Given the description of an element on the screen output the (x, y) to click on. 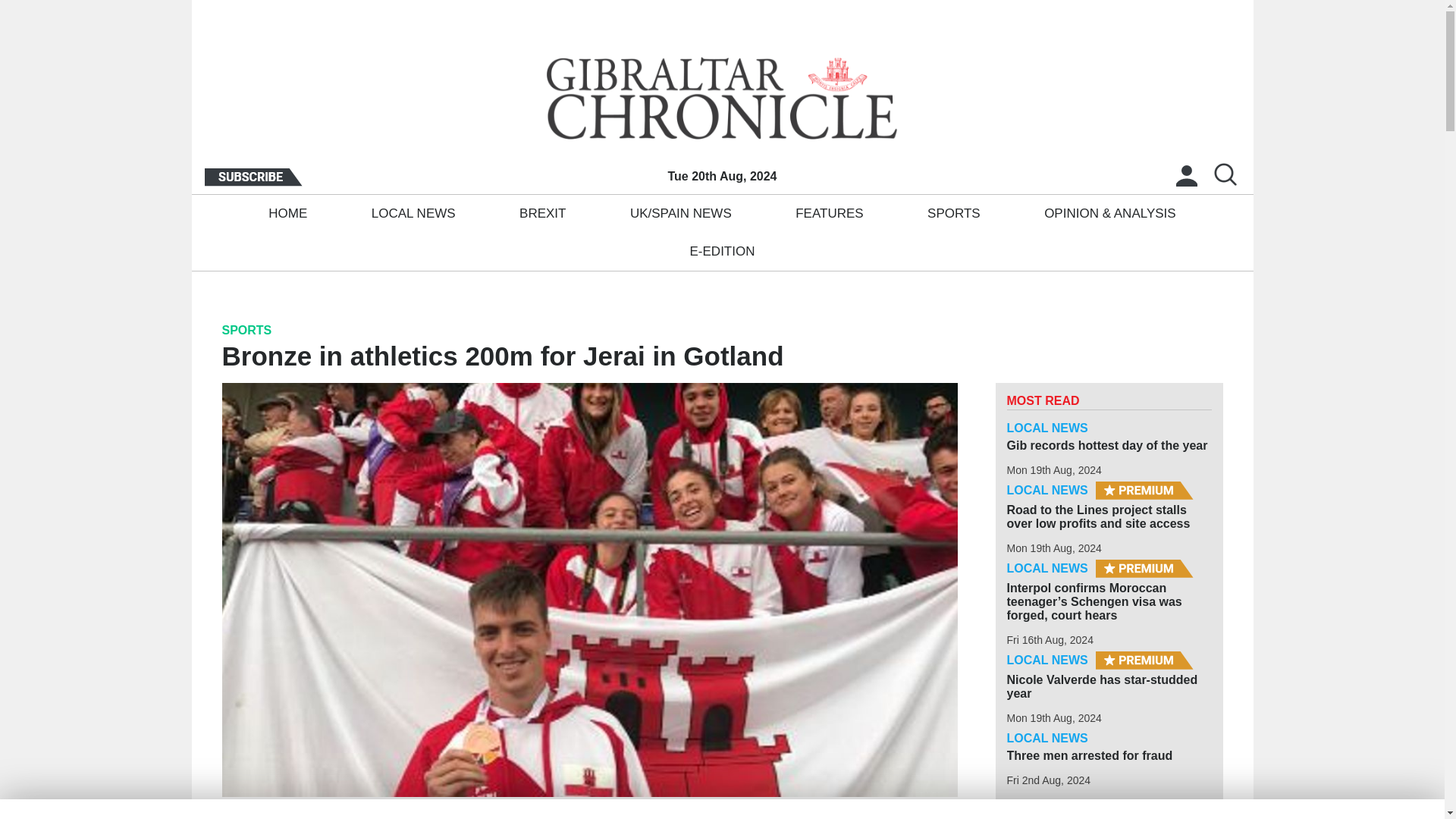
LOCAL NEWS (413, 213)
BY CRISTINA CAVILLA (287, 813)
E-EDITION (722, 251)
FEATURES (829, 213)
BREXIT (542, 213)
Share on Facebook (924, 814)
HOME (287, 213)
SPORTS (953, 213)
Share on Twitter (948, 814)
